Given the description of an element on the screen output the (x, y) to click on. 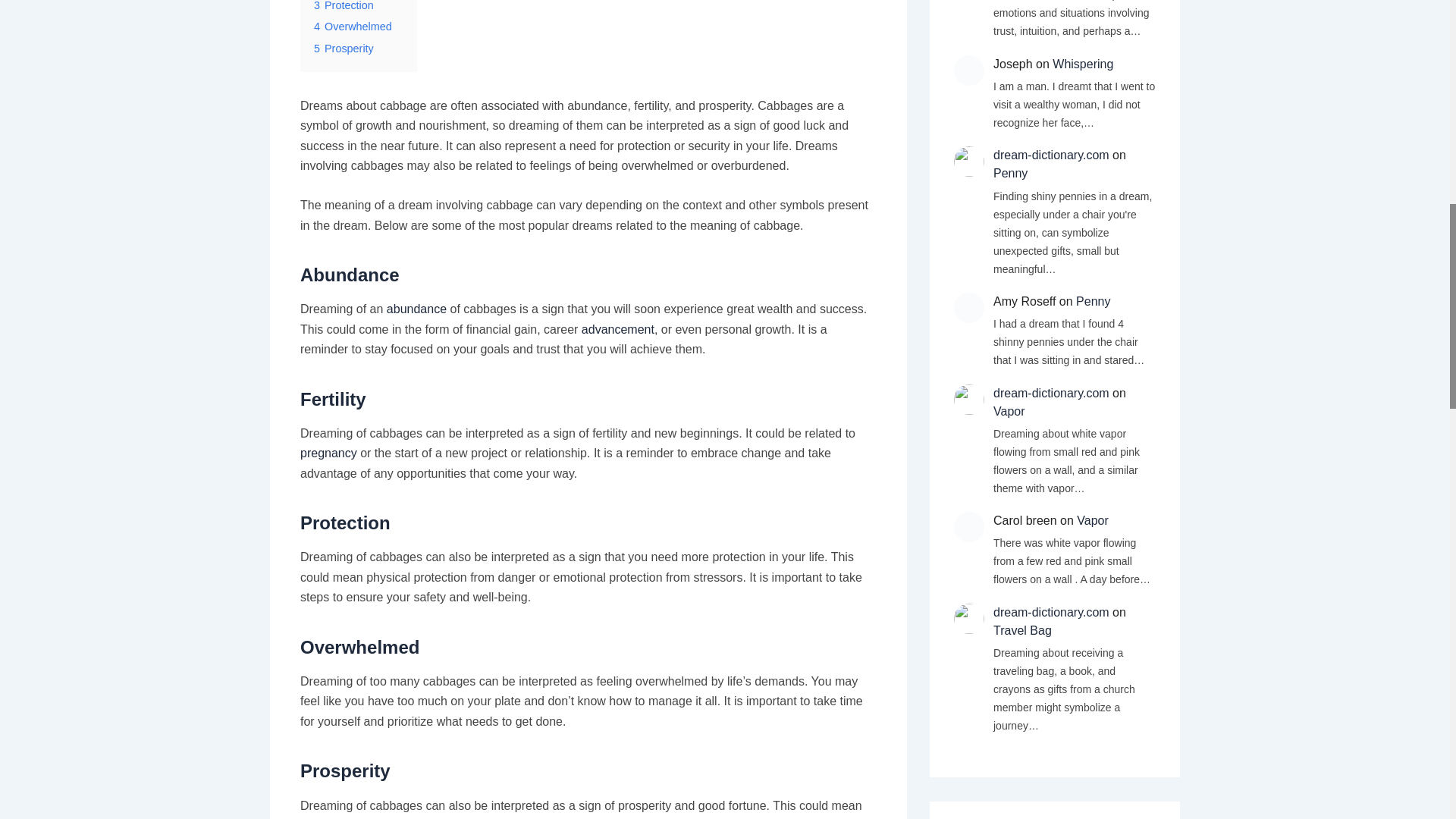
abundance (416, 308)
pregnancy (327, 452)
advancement (616, 328)
